Given the description of an element on the screen output the (x, y) to click on. 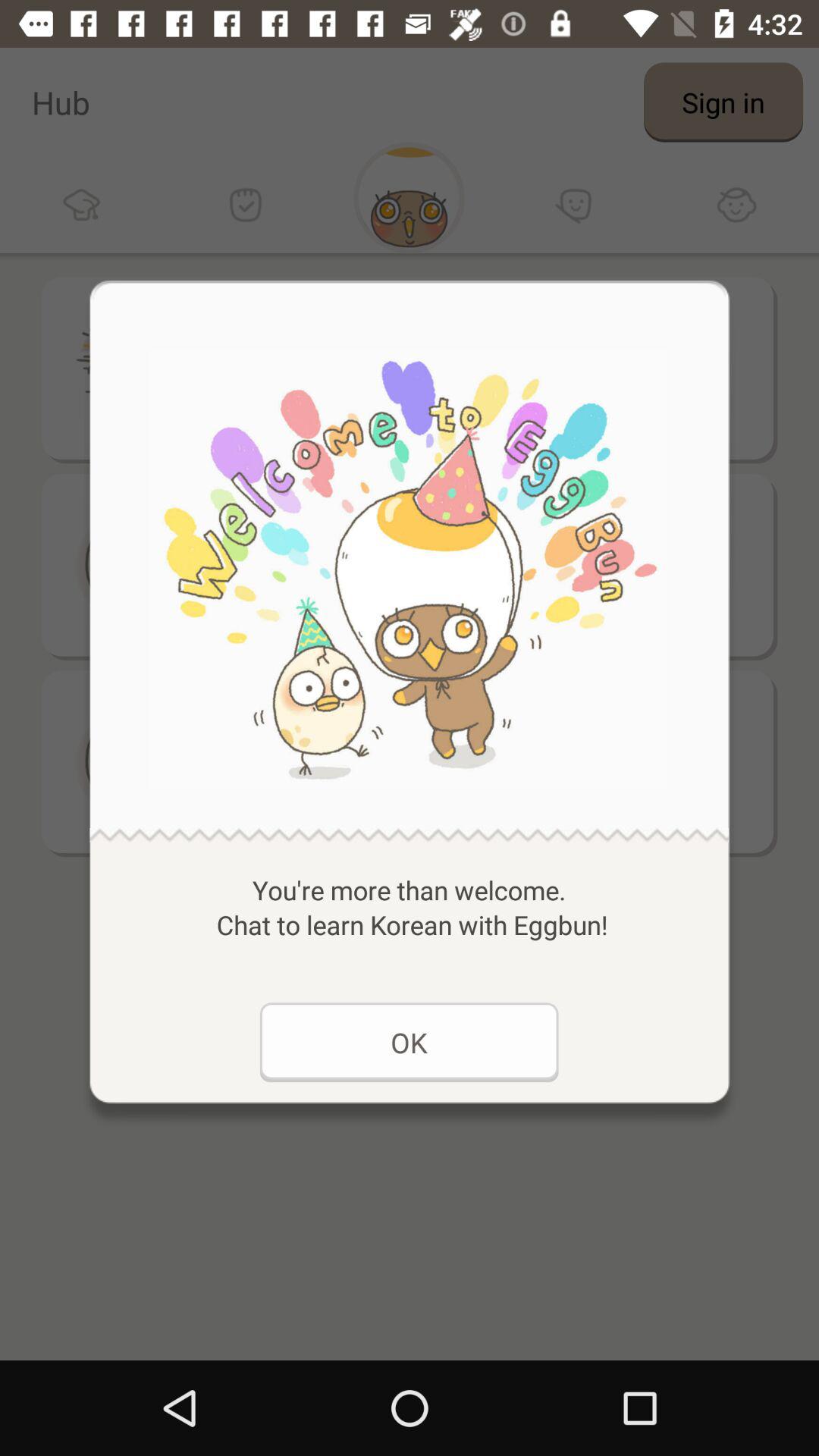
open the app below you re more icon (408, 1042)
